Given the description of an element on the screen output the (x, y) to click on. 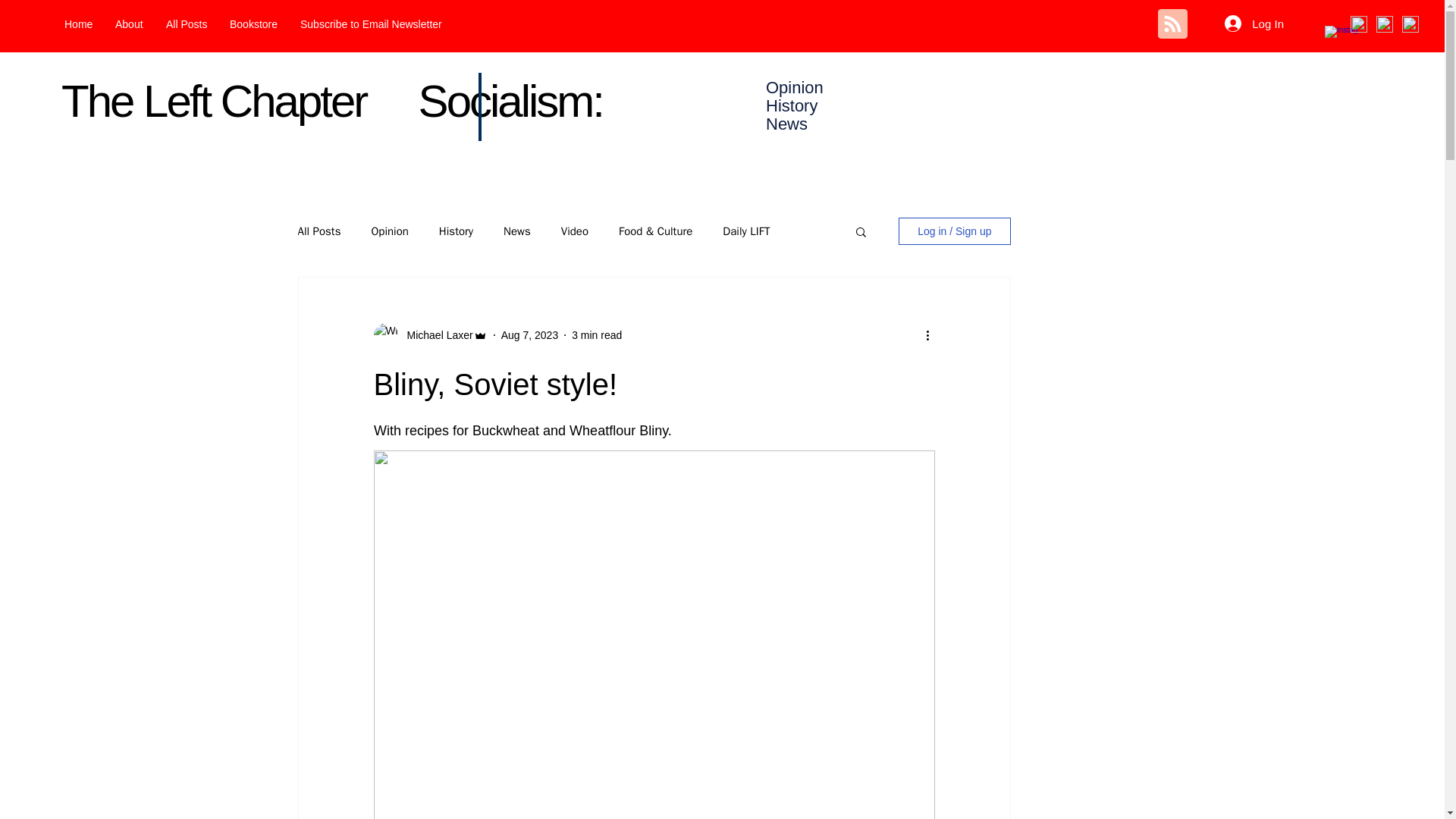
All Posts (186, 24)
All Posts (318, 231)
Opinion (389, 231)
Log In (1254, 23)
History (456, 231)
About (128, 24)
Aug 7, 2023 (529, 335)
Home (77, 24)
Subscribe to Email Newsletter (370, 24)
3 min read (596, 335)
